Given the description of an element on the screen output the (x, y) to click on. 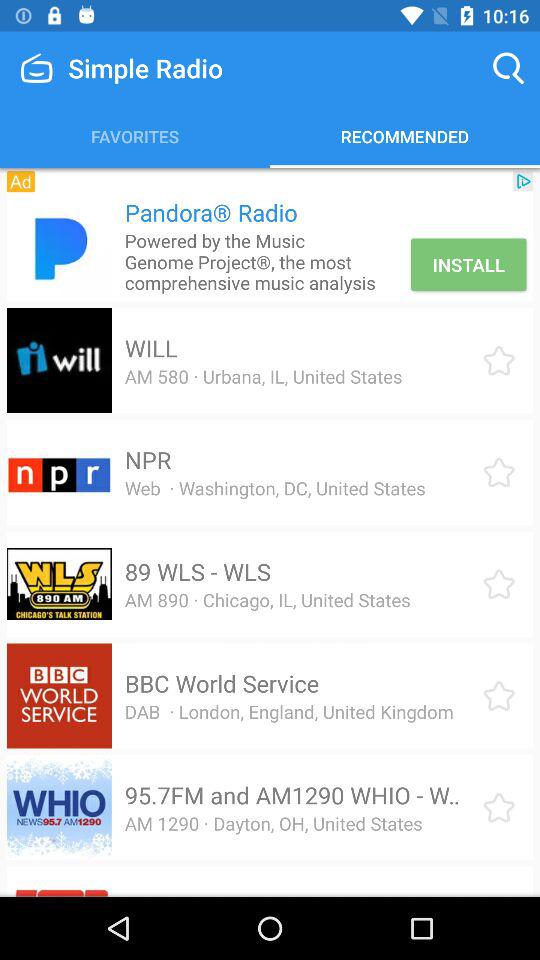
turn off the icon above web washington dc icon (147, 459)
